Given the description of an element on the screen output the (x, y) to click on. 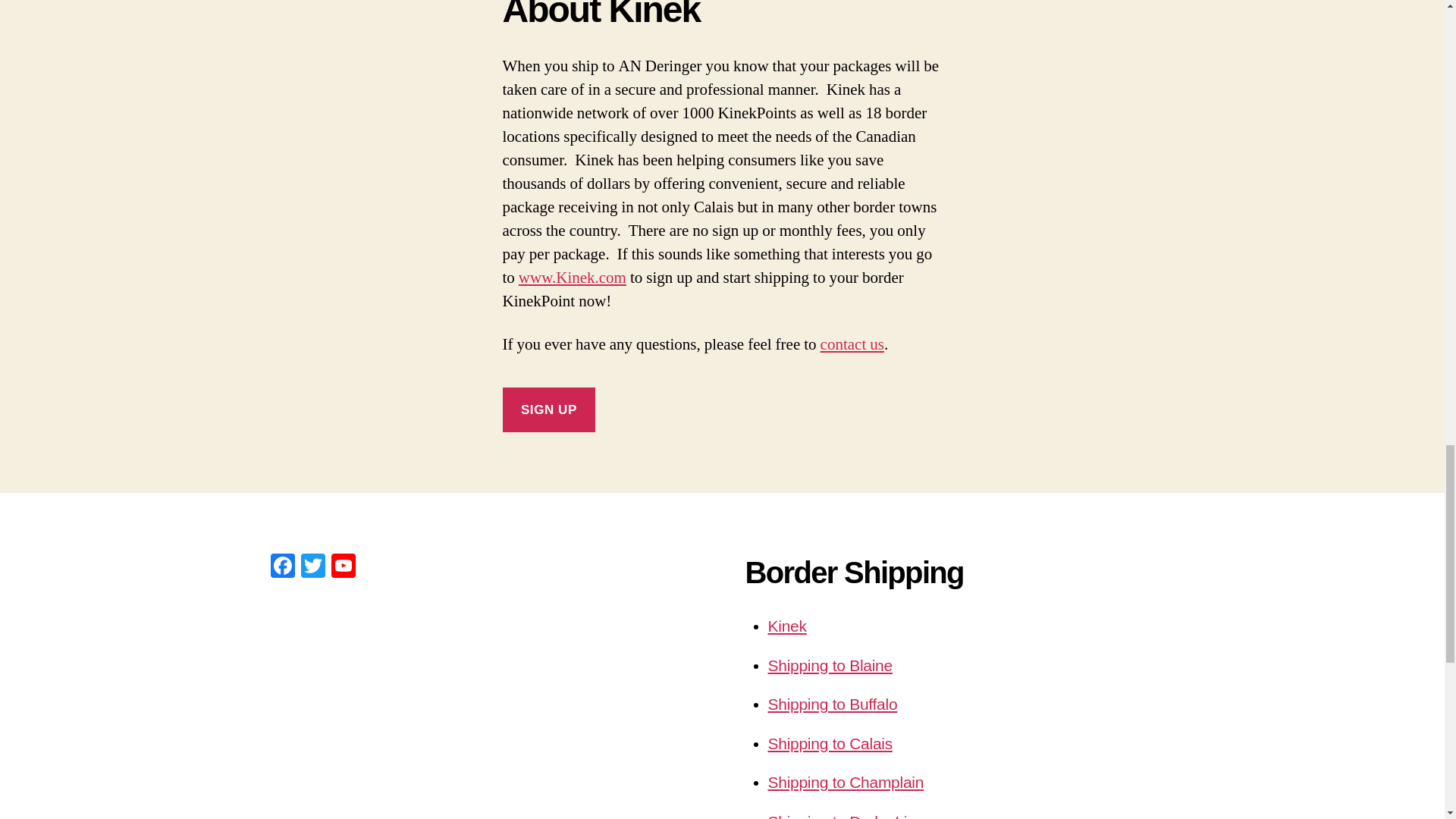
www.Kinek.com (572, 277)
YouTube (342, 567)
Shipping to Calais Contact Us (852, 344)
Shipping to Calais (829, 742)
Package Receiving in Blaine, Washington (829, 665)
SIGN UP (548, 409)
Shipping to Derby Line (845, 816)
YouTube (342, 567)
contact us (852, 344)
Shipping to Champlain (845, 782)
Package receiving in Derby Line (845, 816)
Twitter (312, 567)
Twitter (312, 567)
Package receiving in Champlain, New York (845, 782)
Package receiving in Buffalo, New York (831, 703)
